Given the description of an element on the screen output the (x, y) to click on. 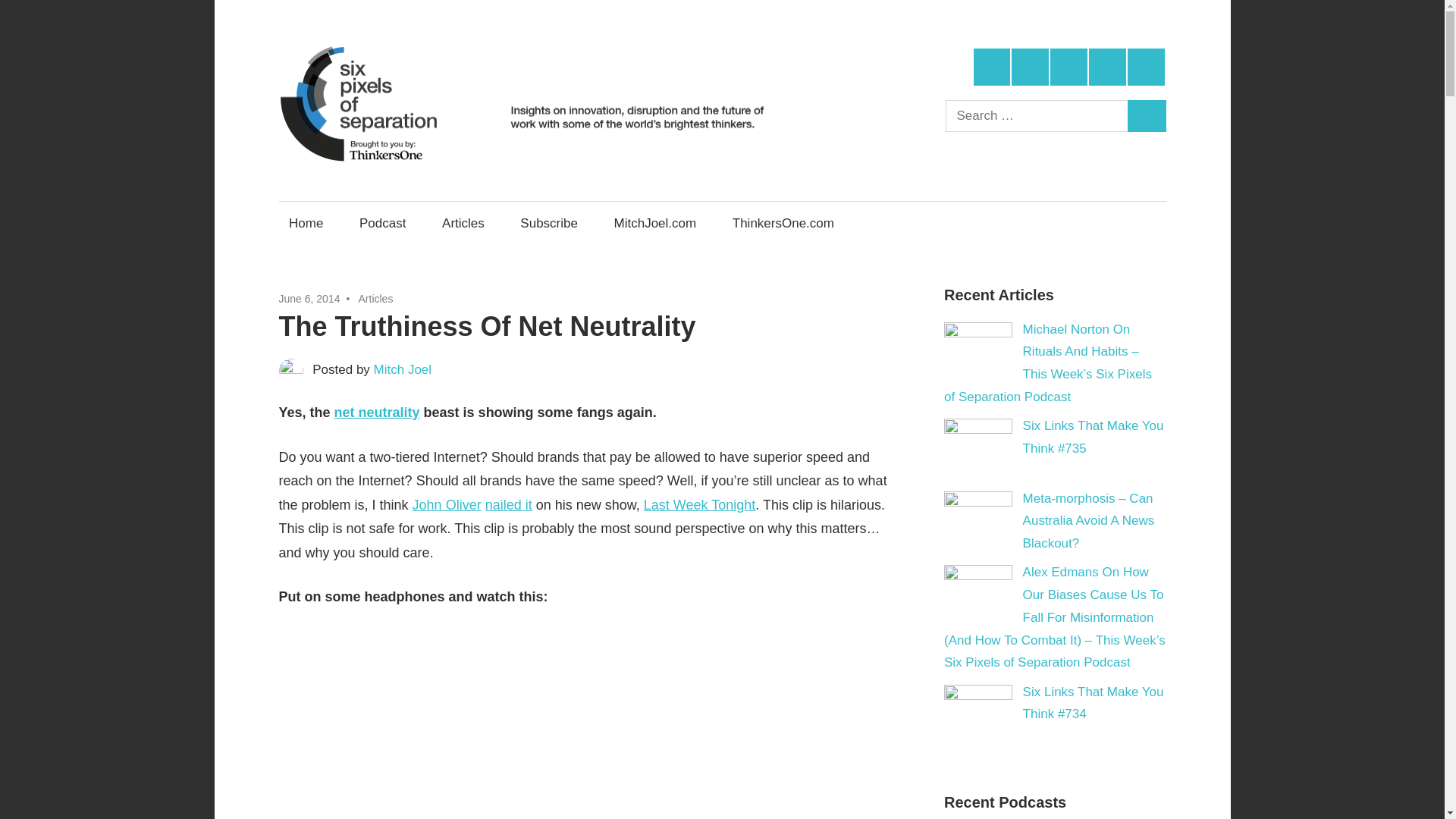
Facebook (1029, 66)
Instagram (1107, 66)
Search for: (1036, 115)
nailed it (508, 504)
Last Week Tonight (699, 504)
Home (306, 222)
Articles (462, 222)
Twitter (992, 66)
Mitch Joel (403, 369)
June 6, 2014 (309, 298)
Instagram (1107, 66)
Email (1145, 66)
net neutrality (377, 412)
Email (1145, 66)
John Oliver (446, 504)
